Given the description of an element on the screen output the (x, y) to click on. 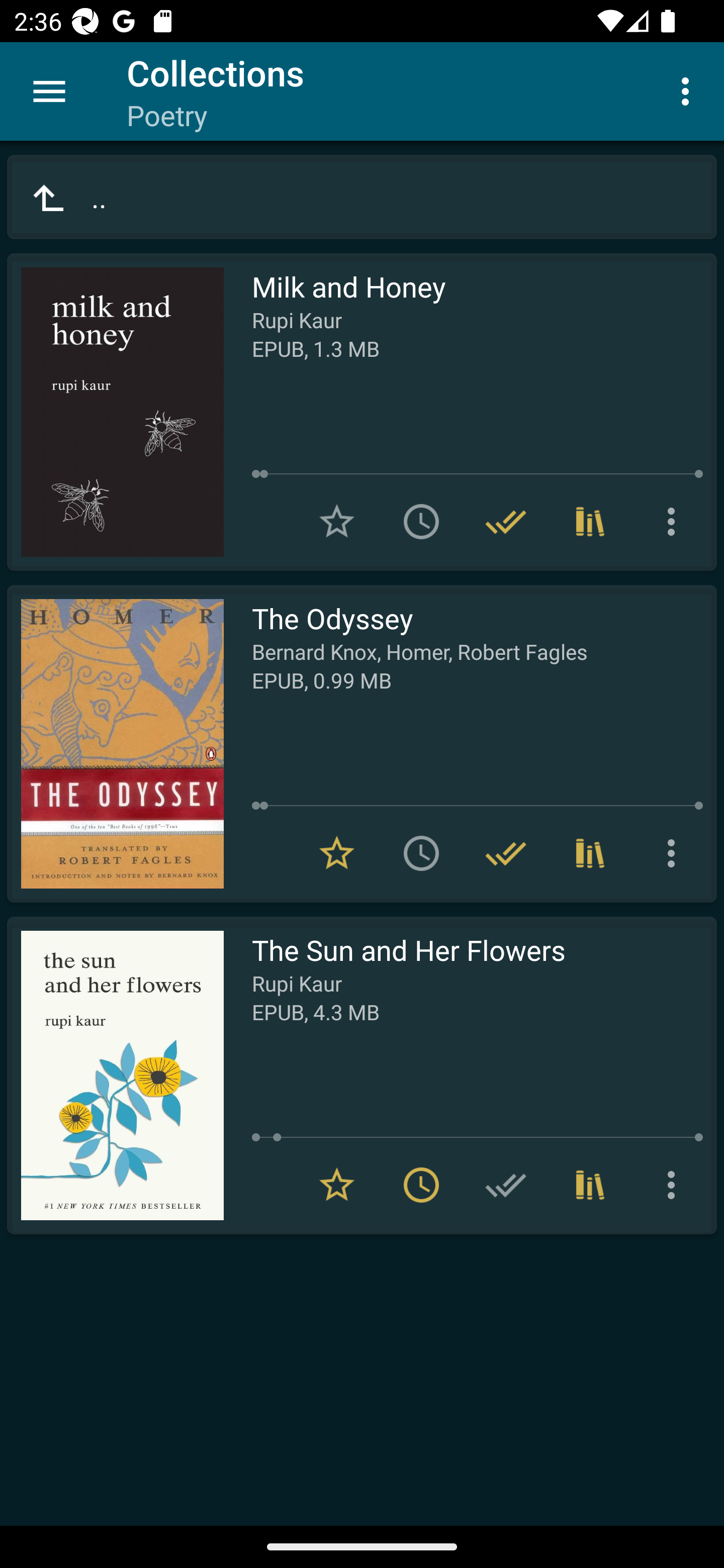
Menu (49, 91)
More options (688, 90)
.. (361, 197)
Read Milk and Honey (115, 412)
Add to Favorites (336, 521)
Add to To read (421, 521)
Remove from Have read (505, 521)
Collections (4) (590, 521)
More options (674, 521)
Read The Odyssey (115, 743)
Remove from Favorites (336, 852)
Add to To read (421, 852)
Remove from Have read (505, 852)
Collections (3) (590, 852)
More options (674, 852)
Read The Sun and Her Flowers (115, 1075)
Remove from Favorites (336, 1185)
Remove from To read (421, 1185)
Add to Have read (505, 1185)
Collections (1) (590, 1185)
More options (674, 1185)
